Given the description of an element on the screen output the (x, y) to click on. 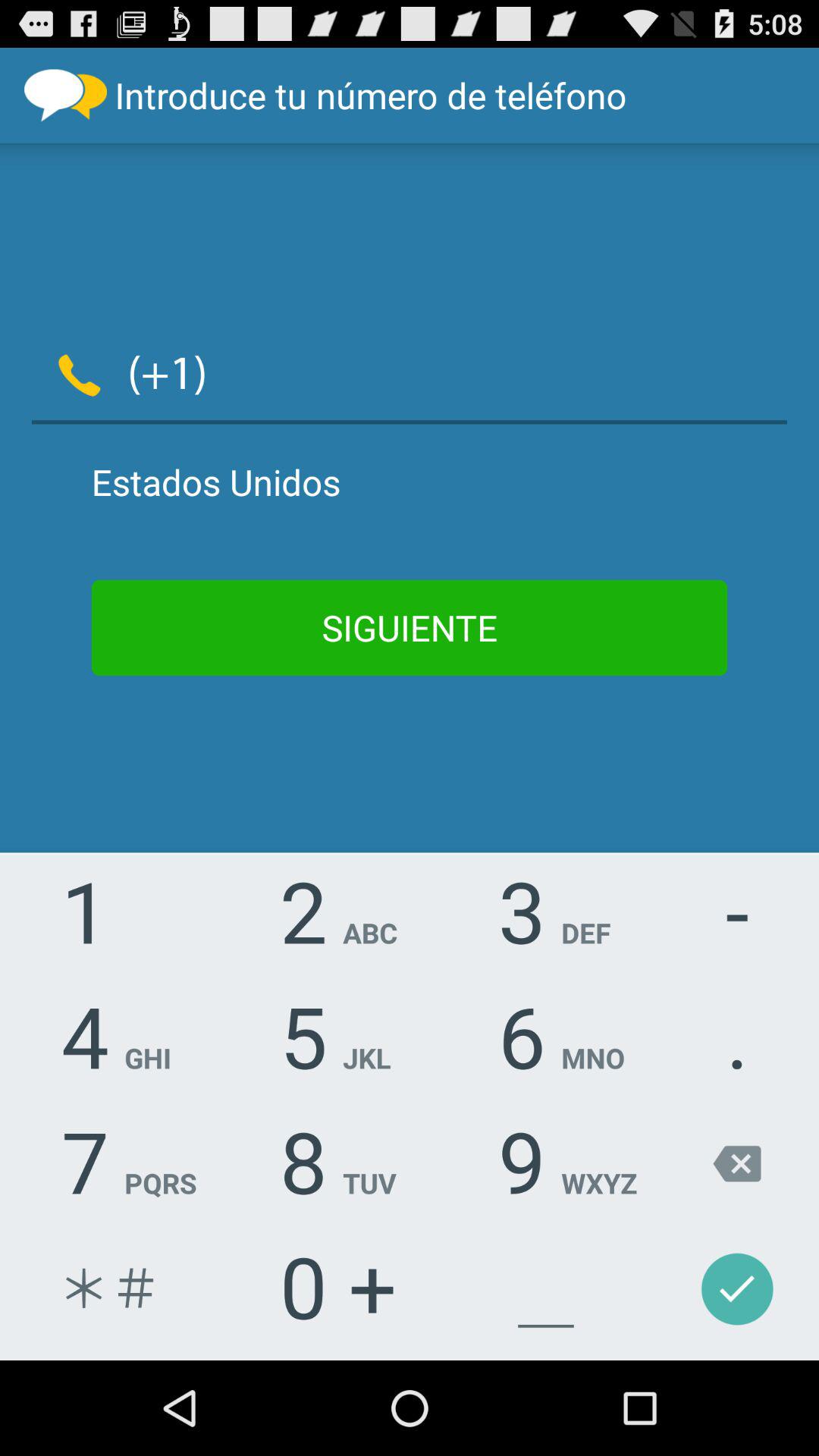
type phone number (507, 371)
